Given the description of an element on the screen output the (x, y) to click on. 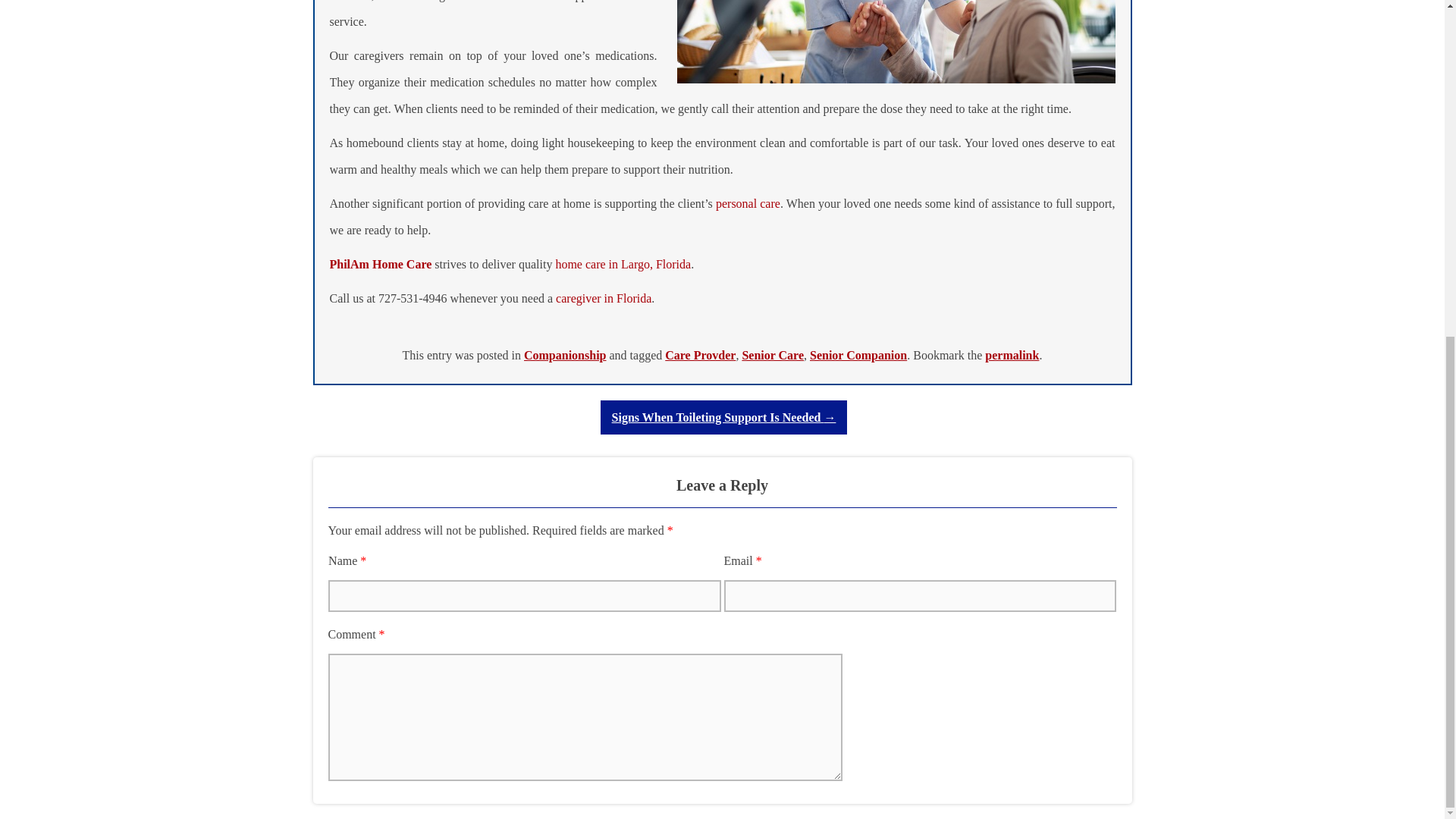
Senior Care (772, 354)
727-531-4946 (412, 297)
Senior Companion (858, 354)
permalink (1012, 354)
caregiver in Florida (603, 297)
Permalink to Companionship Can Be So Much More (1012, 354)
Care Provder (700, 354)
personal care (748, 202)
Companionship (565, 354)
home care in Largo, Florida (622, 263)
